Given the description of an element on the screen output the (x, y) to click on. 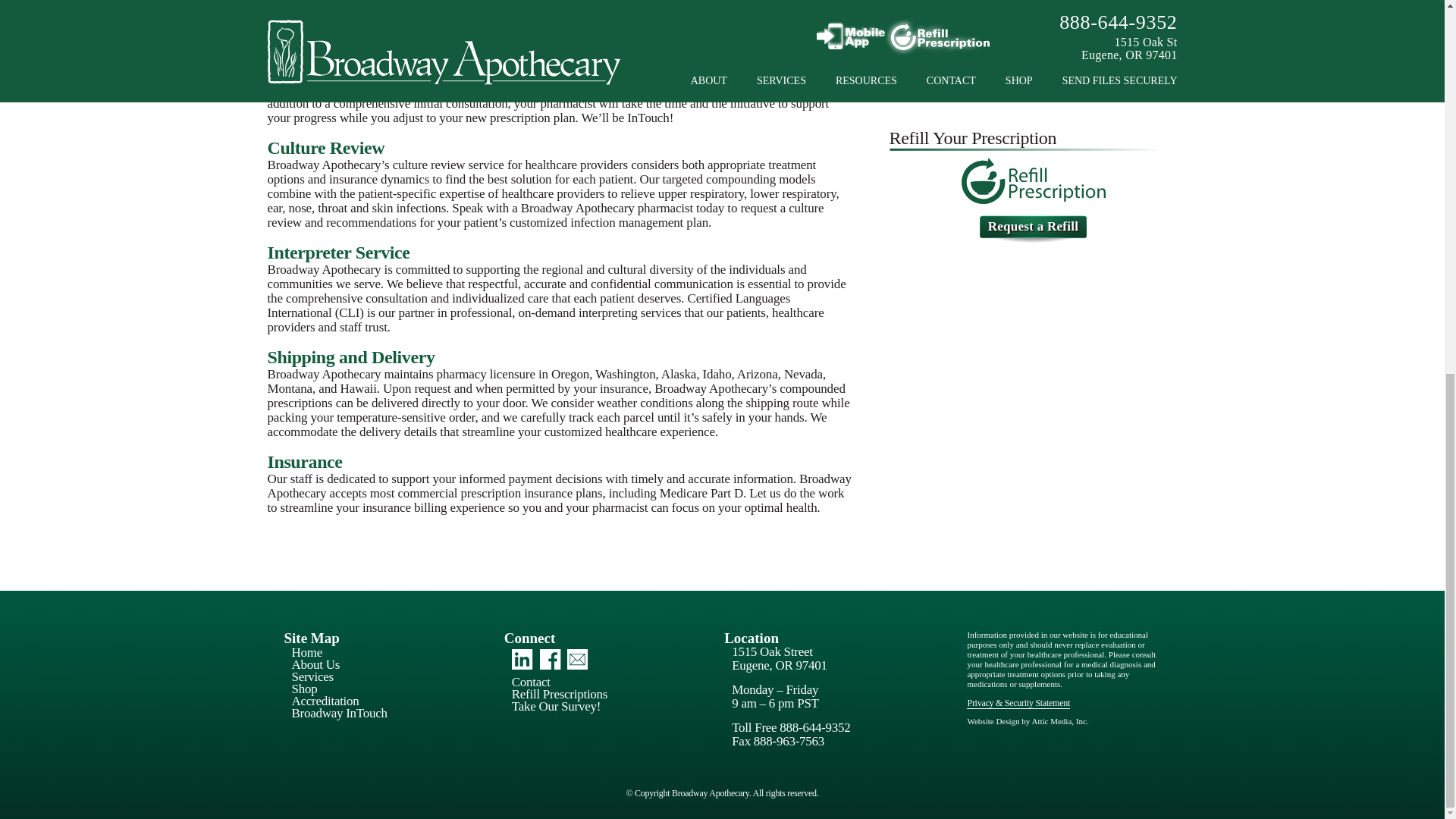
888-644-9352 (1033, 14)
